Given the description of an element on the screen output the (x, y) to click on. 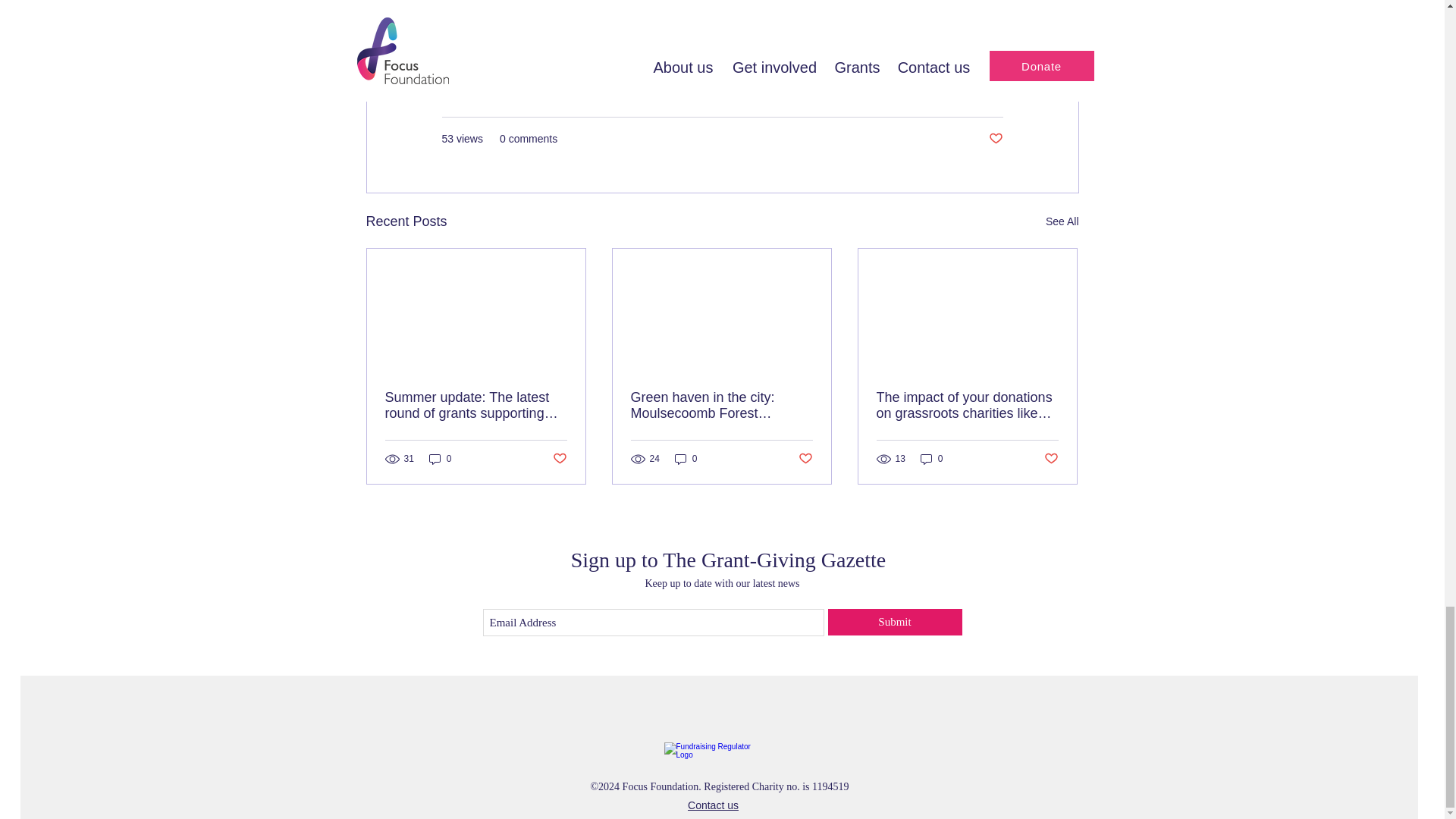
See All (1061, 221)
Post not marked as liked (995, 139)
Youth work (702, 36)
Community (478, 36)
Youth Work (976, 93)
Charity (634, 36)
Awarded Grant (897, 93)
Charity grant (561, 36)
